Given the description of an element on the screen output the (x, y) to click on. 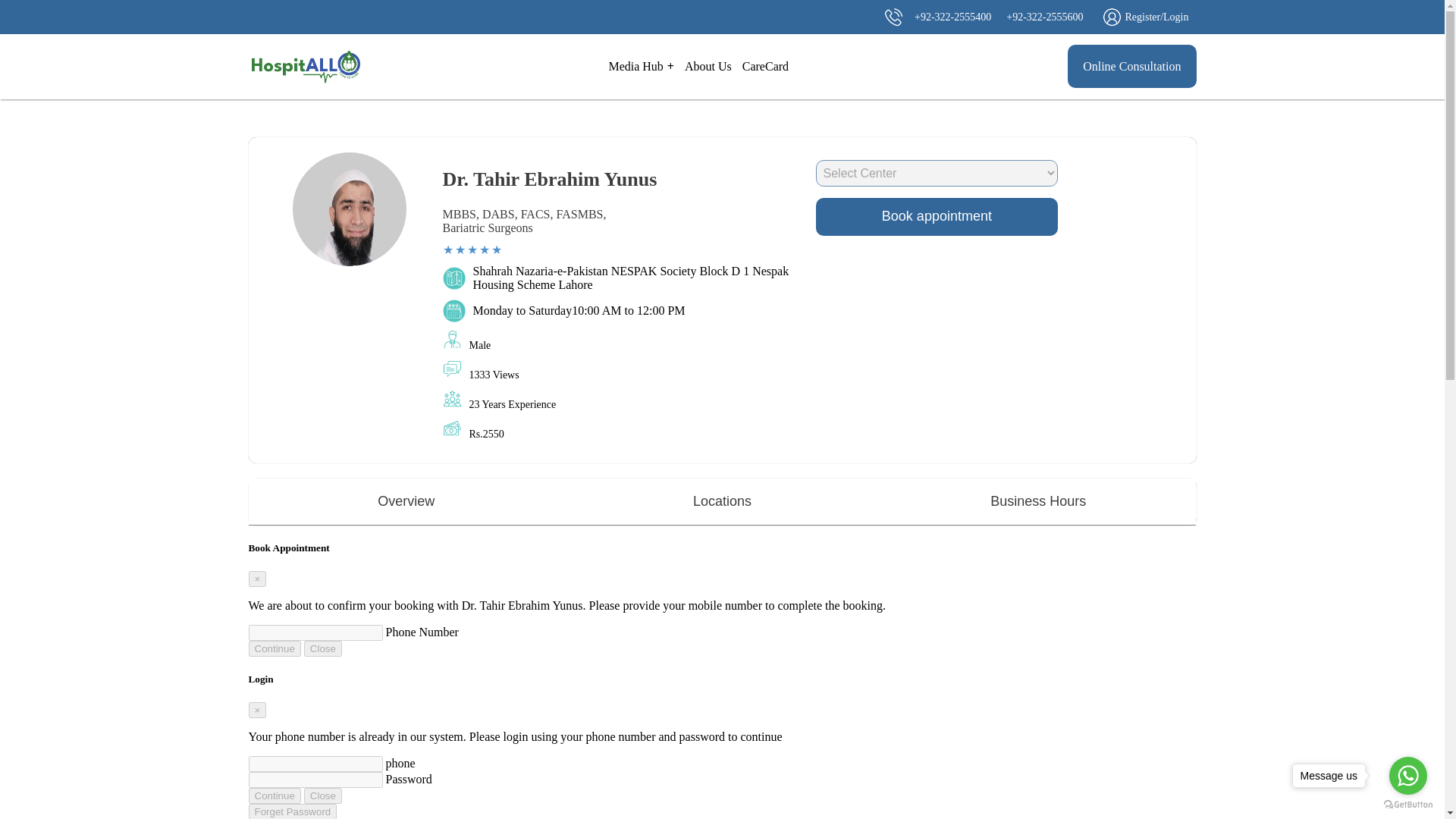
About Us (708, 65)
CareCard (765, 65)
Online Consultation (1131, 66)
Media Hub (641, 66)
